Given the description of an element on the screen output the (x, y) to click on. 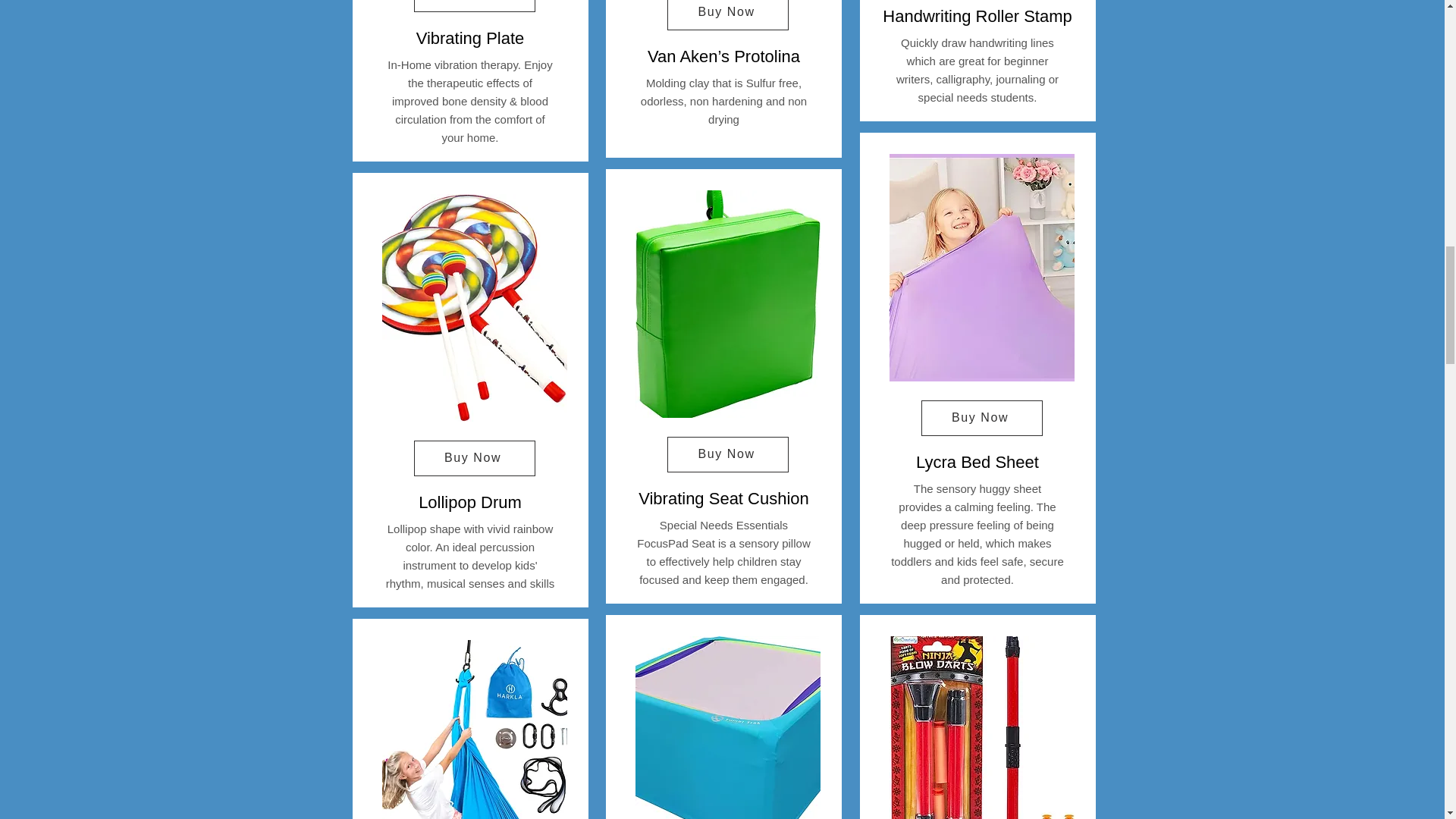
Boundex Lycra Box.jpg (727, 727)
Buy Now (727, 15)
Buy Now (474, 6)
Harkla Sensory Swing.jpg (474, 729)
Buy Now (474, 457)
